Given the description of an element on the screen output the (x, y) to click on. 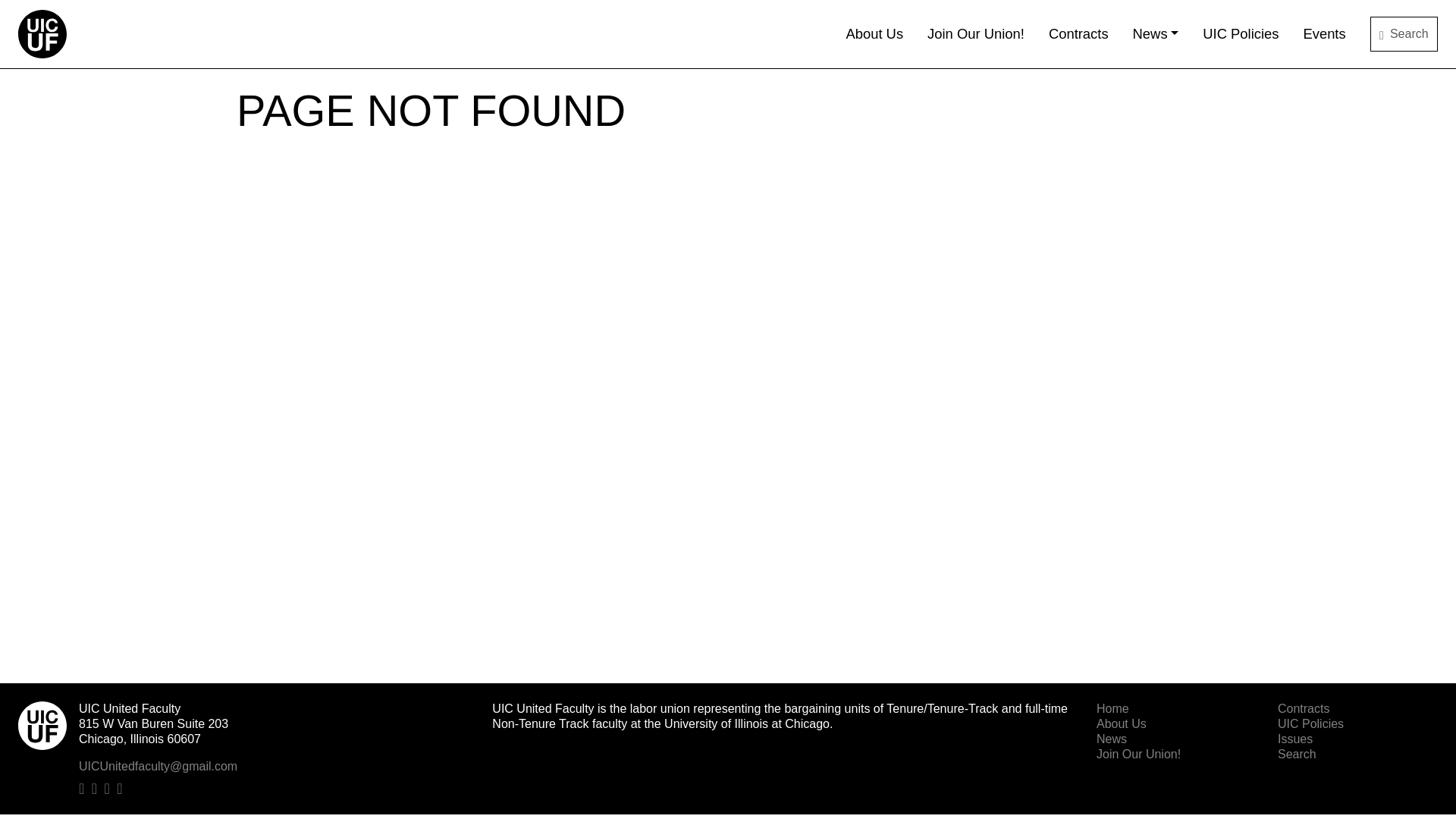
Issues (1295, 738)
Contracts (1303, 707)
Join Our Union! (976, 33)
Contracts (1078, 33)
UIC Policies (1240, 33)
Search (1404, 33)
News (1111, 738)
Search (1297, 753)
News (1155, 33)
Instagram (110, 787)
